Given the description of an element on the screen output the (x, y) to click on. 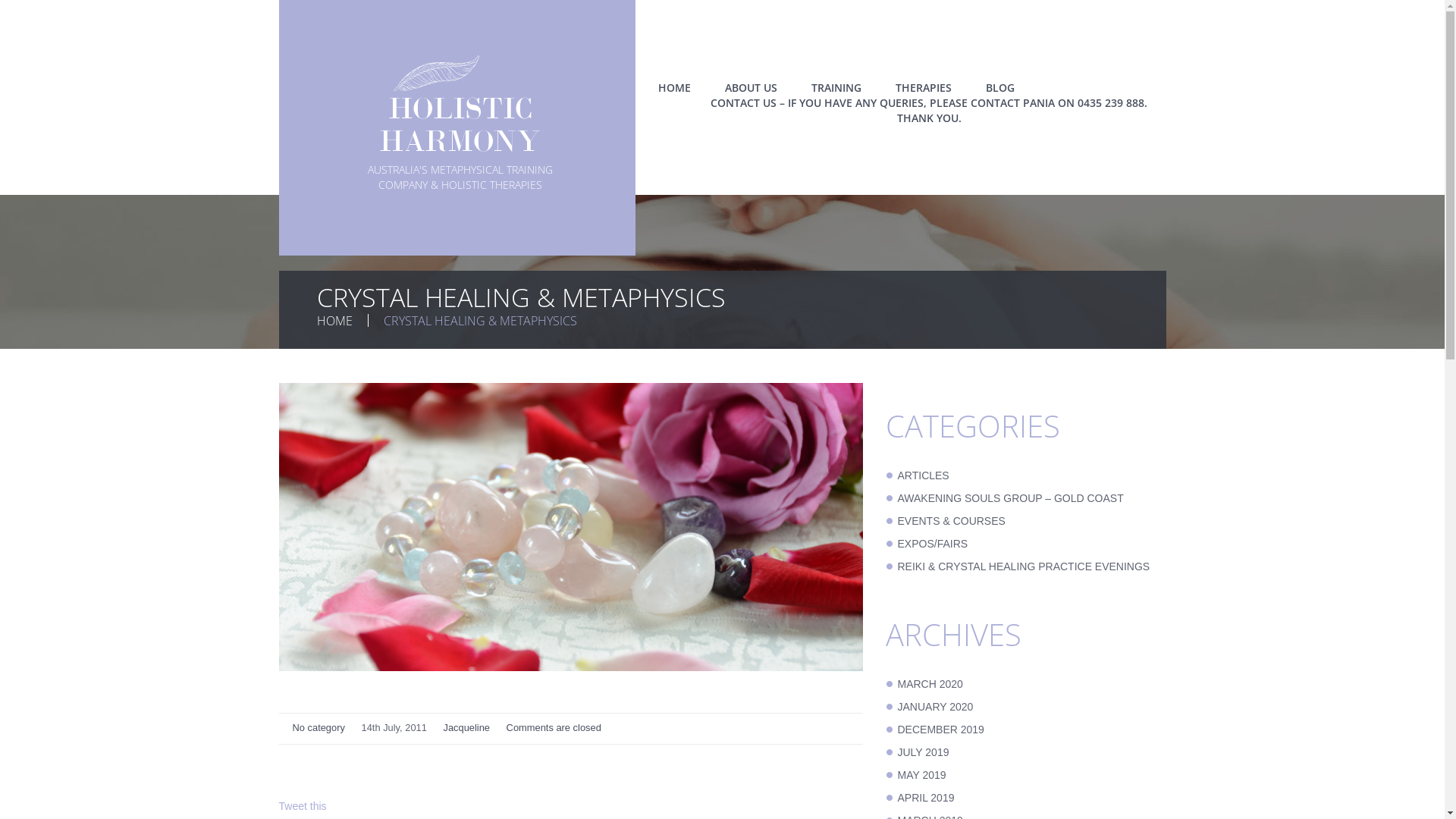
MAY 2019 Element type: text (921, 774)
JULY 2019 Element type: text (923, 752)
APRIL 2019 Element type: text (925, 797)
DECEMBER 2019 Element type: text (940, 729)
HOME Element type: text (674, 87)
BLOG Element type: text (999, 87)
ABOUT US Element type: text (750, 87)
JANUARY 2020 Element type: text (935, 706)
ARTICLES Element type: text (923, 475)
MARCH 2020 Element type: text (930, 683)
EXPOS/FAIRS Element type: text (932, 543)
Jacqueline Element type: text (465, 727)
HOME Element type: text (334, 320)
EVENTS & COURSES Element type: text (951, 520)
TRAINING Element type: text (836, 87)
REIKI & CRYSTAL HEALING PRACTICE EVENINGS Element type: text (1023, 566)
THERAPIES Element type: text (922, 87)
